Given the description of an element on the screen output the (x, y) to click on. 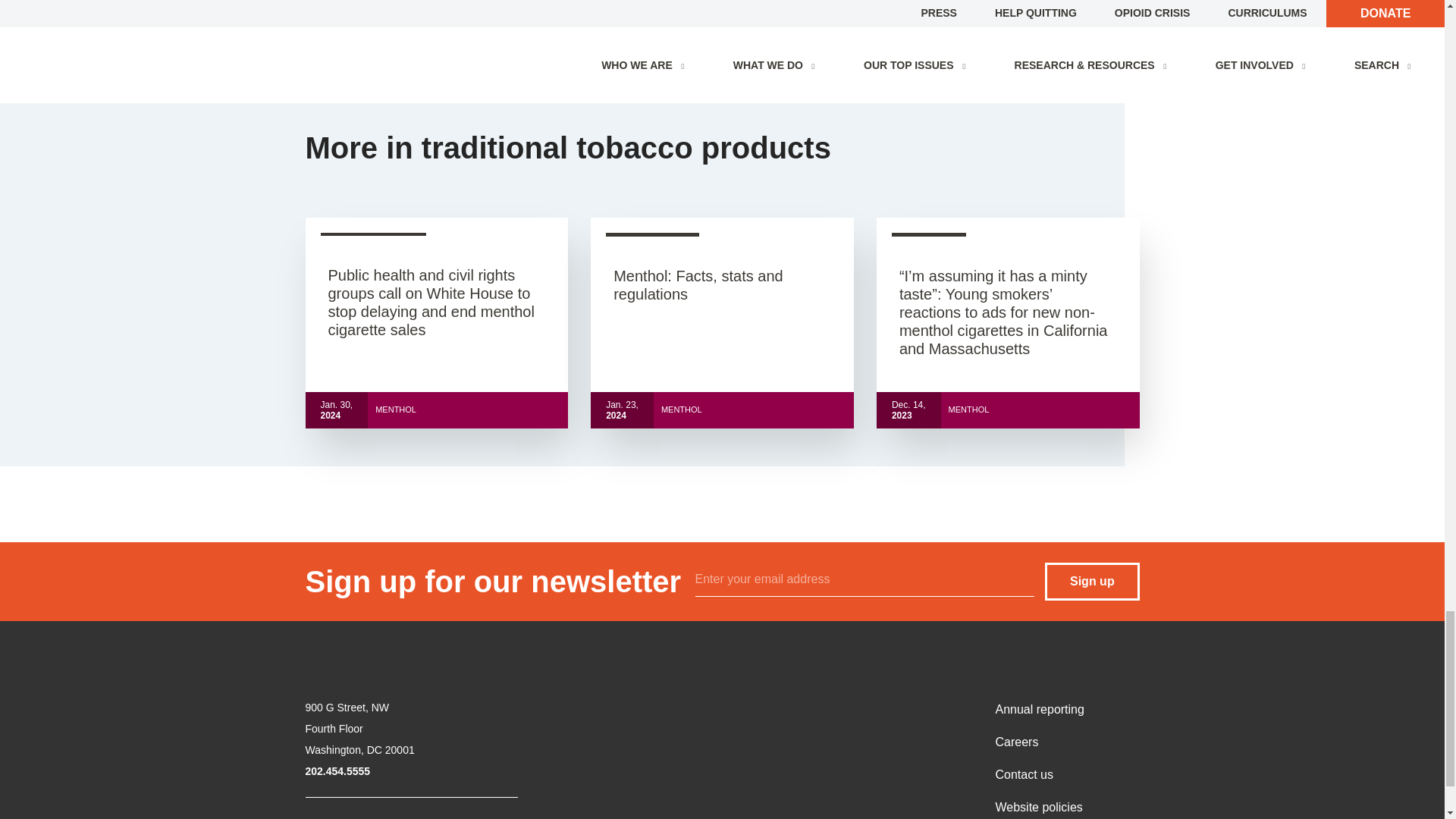
Sign up (1092, 581)
